Given the description of an element on the screen output the (x, y) to click on. 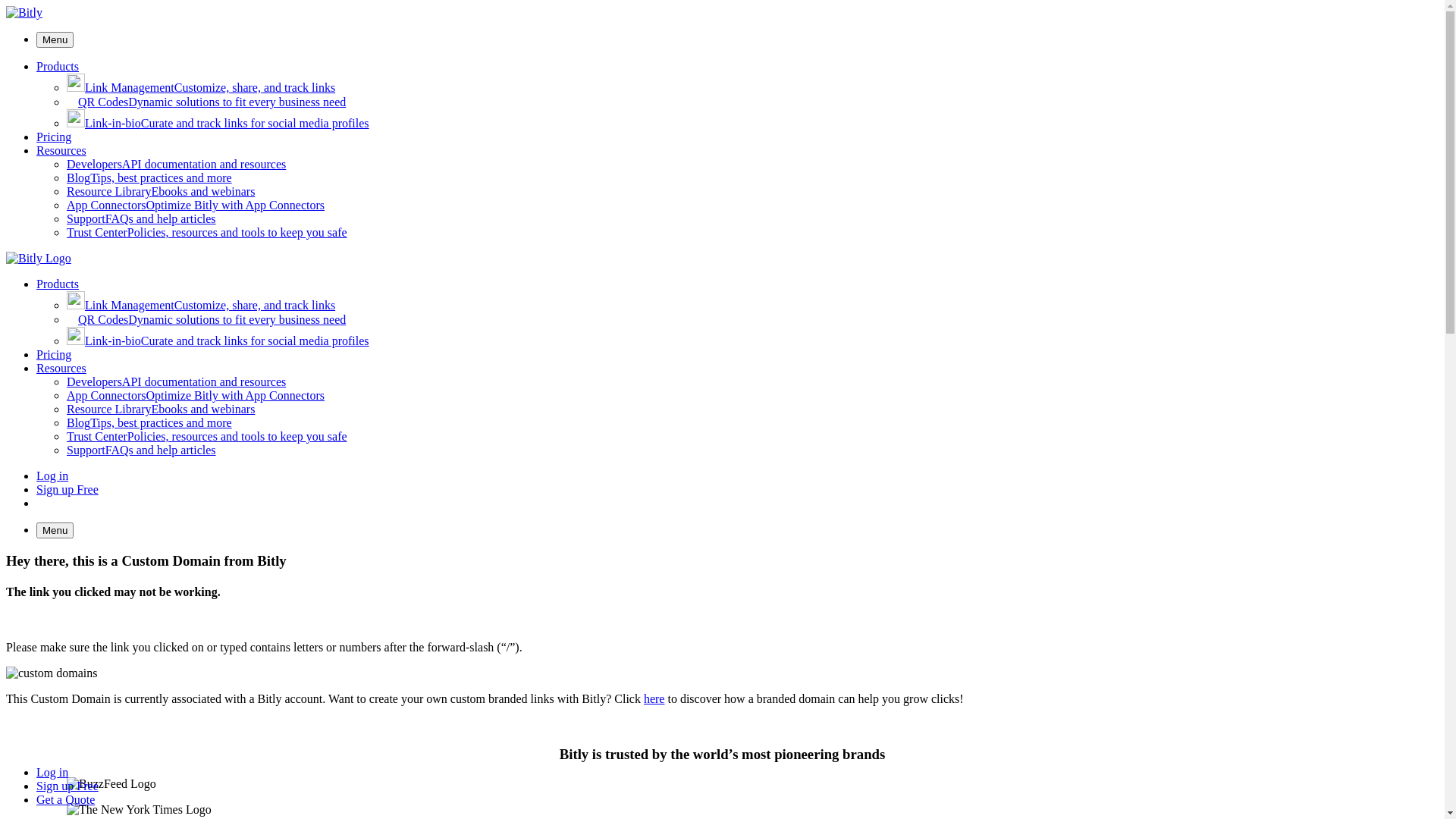
QR CodesDynamic solutions to fit every business need Element type: text (205, 101)
Sign up Free Element type: text (67, 489)
Sign up Free Element type: text (67, 785)
here Element type: text (654, 698)
Link ManagementCustomize, share, and track links Element type: text (200, 304)
Trust CenterPolicies, resources and tools to keep you safe Element type: text (206, 231)
App ConnectorsOptimize Bitly with App Connectors Element type: text (195, 204)
BlogTips, best practices and more Element type: text (149, 422)
Log in Element type: text (52, 771)
Pricing Element type: text (53, 136)
Products Element type: text (57, 283)
Resource LibraryEbooks and webinars Element type: text (160, 191)
Resources Element type: text (61, 367)
Resources Element type: text (61, 150)
Link-in-bioCurate and track links for social media profiles Element type: text (217, 340)
Log in Element type: text (52, 475)
Link-in-bioCurate and track links for social media profiles Element type: text (217, 122)
DevelopersAPI documentation and resources Element type: text (175, 163)
BlogTips, best practices and more Element type: text (149, 177)
SupportFAQs and help articles Element type: text (141, 449)
QR CodesDynamic solutions to fit every business need Element type: text (205, 319)
Resource LibraryEbooks and webinars Element type: text (160, 408)
Menu Element type: text (54, 530)
App ConnectorsOptimize Bitly with App Connectors Element type: text (195, 395)
Pricing Element type: text (53, 354)
Get a Quote Element type: text (77, 502)
SupportFAQs and help articles Element type: text (141, 218)
Get a Quote Element type: text (65, 799)
Menu Element type: text (54, 39)
Products Element type: text (57, 65)
Trust CenterPolicies, resources and tools to keep you safe Element type: text (206, 435)
Link ManagementCustomize, share, and track links Element type: text (200, 87)
DevelopersAPI documentation and resources Element type: text (175, 381)
